Given the description of an element on the screen output the (x, y) to click on. 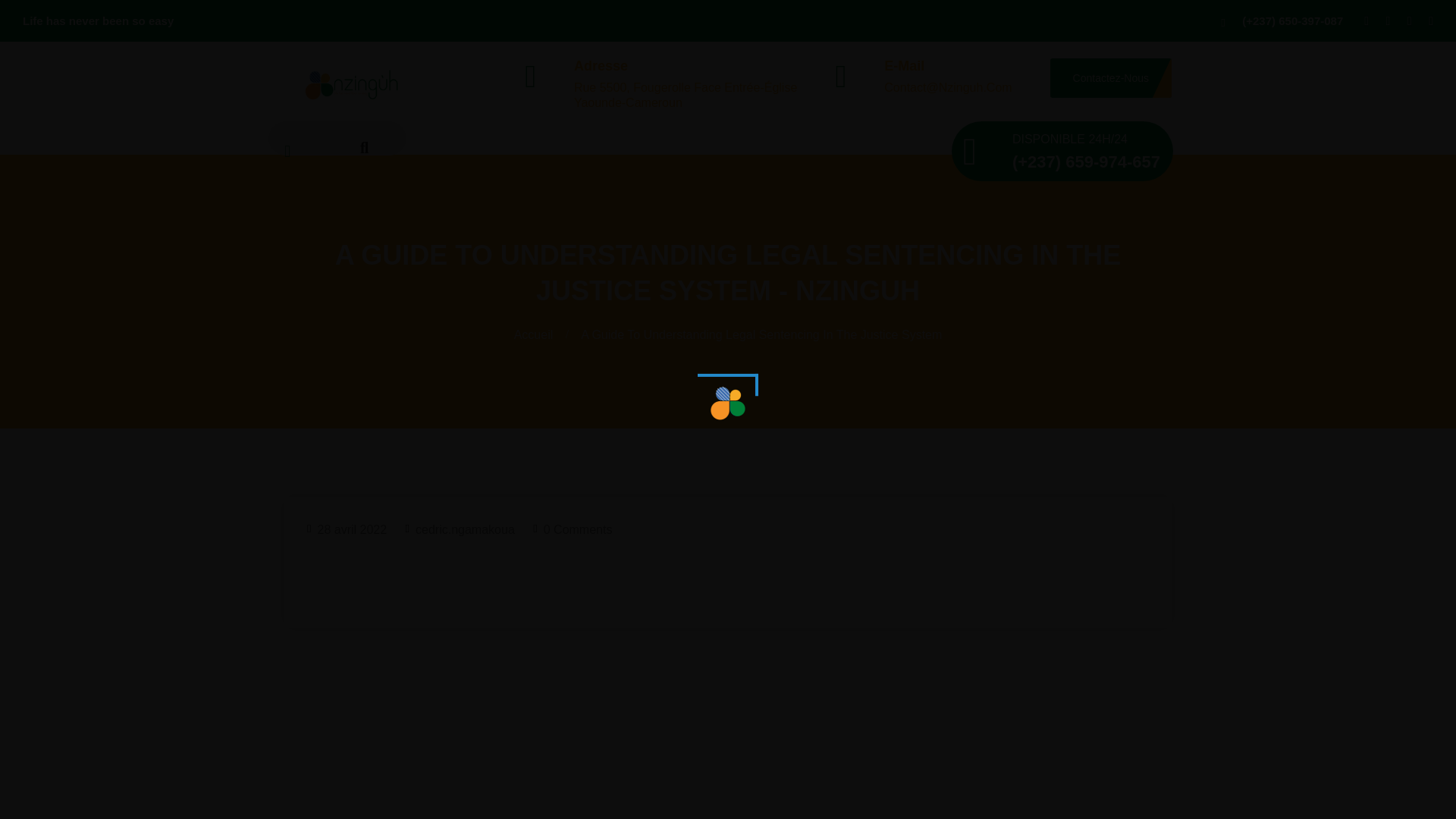
Contactez-Nous (1110, 77)
Accueil   (536, 334)
pole digital (354, 83)
